Given the description of an element on the screen output the (x, y) to click on. 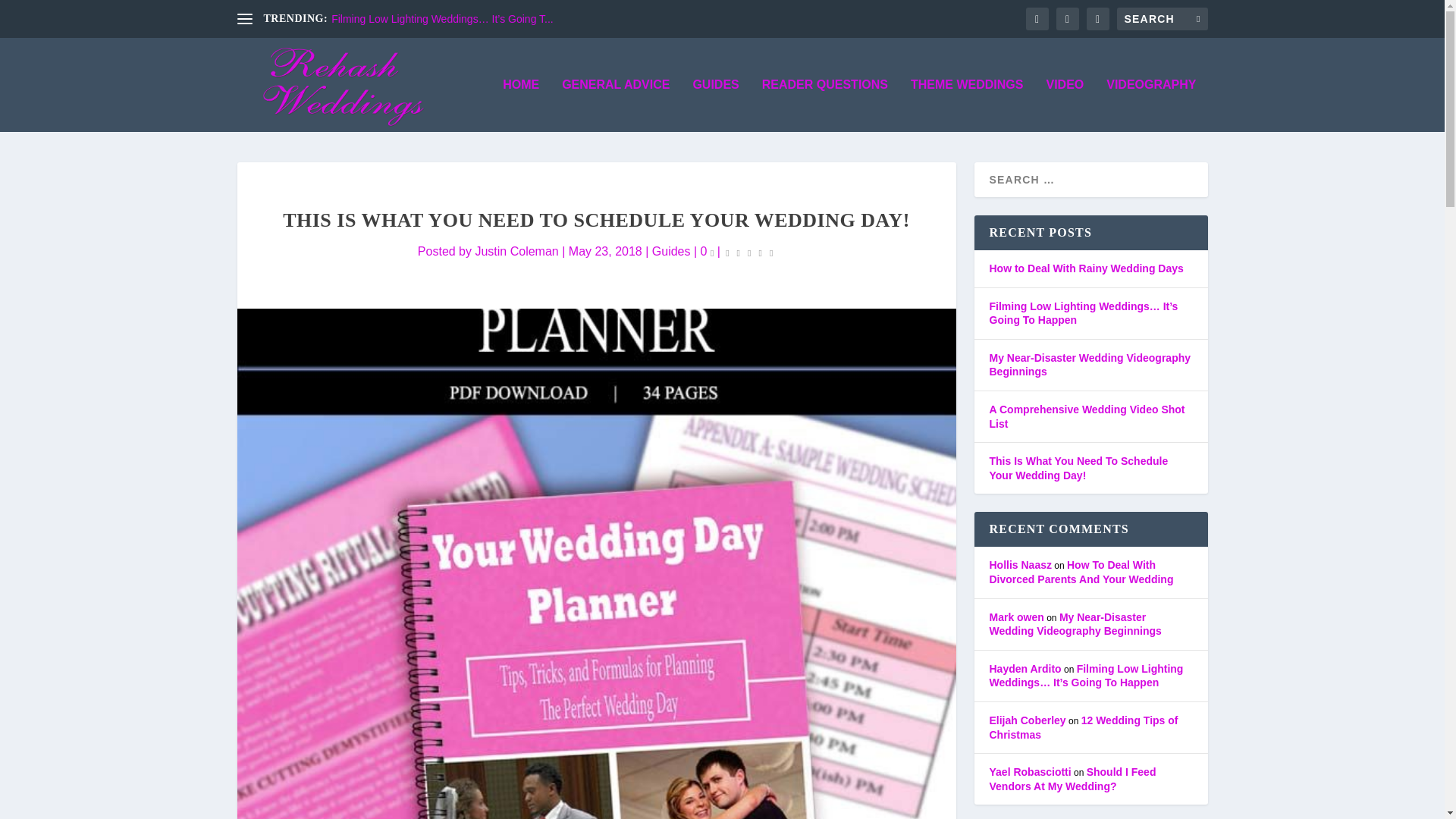
Rating: 0.00 (748, 251)
Search for: (1161, 18)
GENERAL ADVICE (615, 104)
Posts by Justin Coleman (515, 250)
VIDEOGRAPHY (1150, 104)
THEME WEDDINGS (967, 104)
Guides (671, 250)
0 (707, 250)
Justin Coleman (515, 250)
READER QUESTIONS (824, 104)
